Given the description of an element on the screen output the (x, y) to click on. 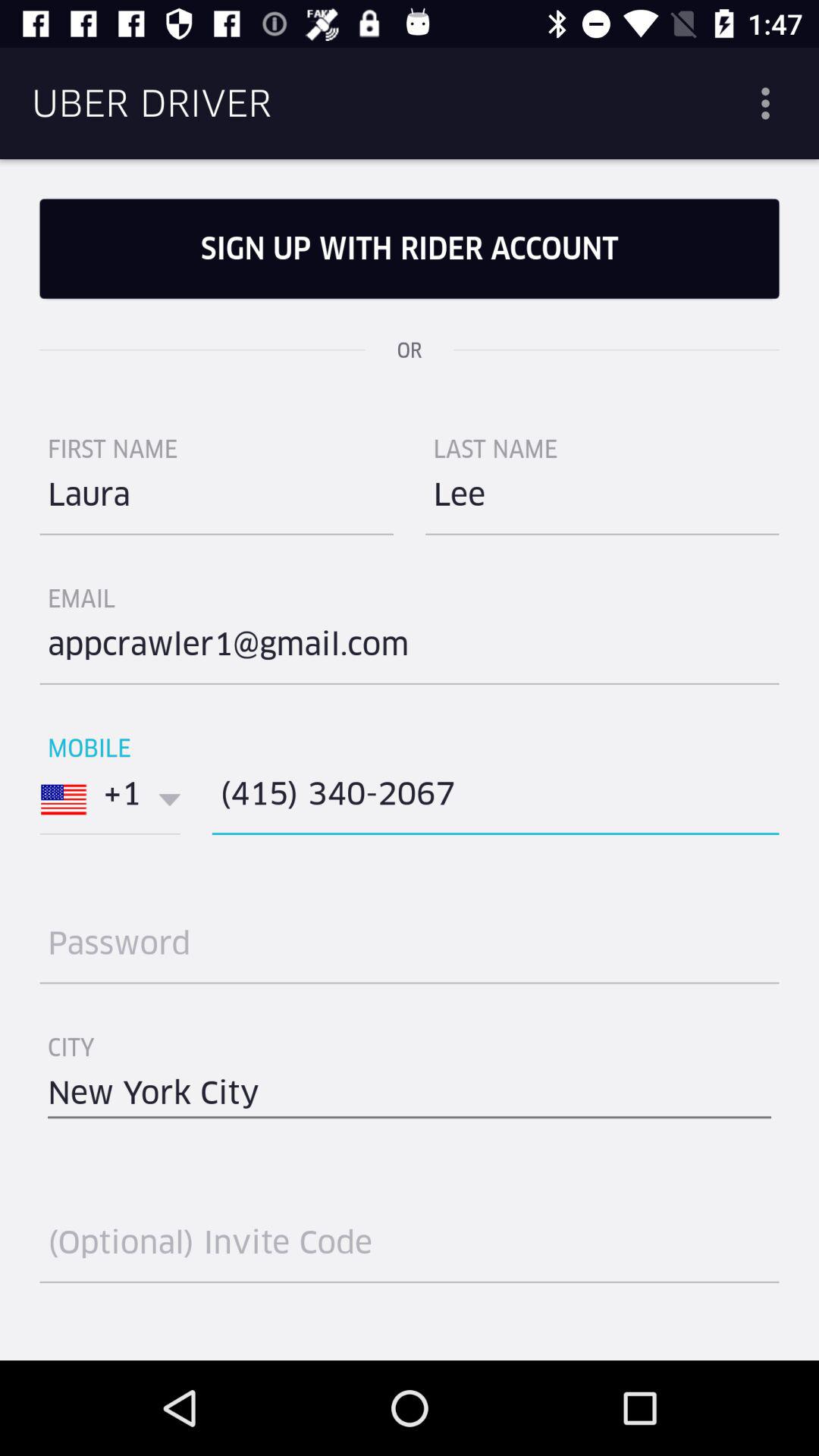
choose the icon below the   item (495, 799)
